Given the description of an element on the screen output the (x, y) to click on. 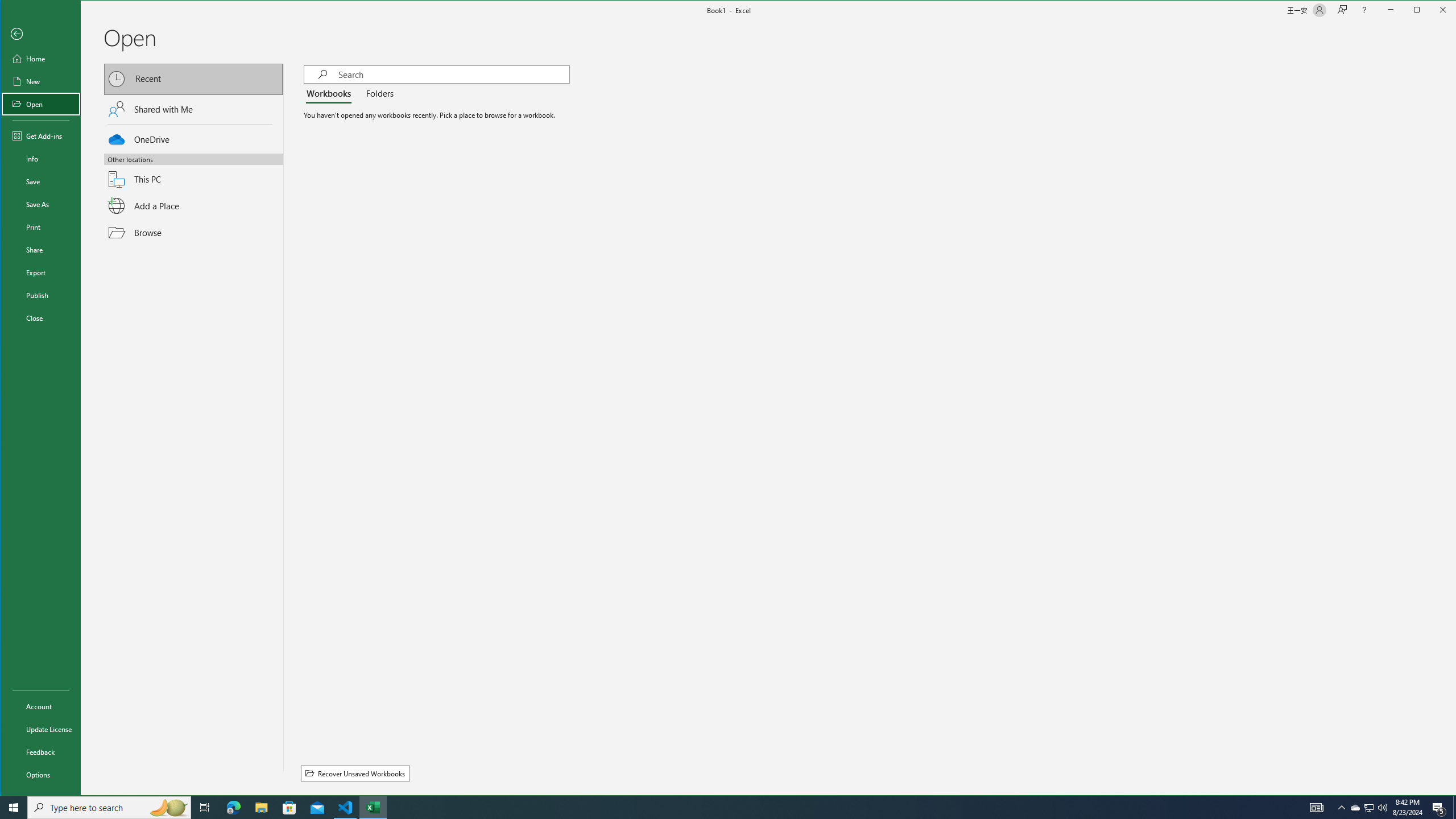
Type here to search (108, 807)
Print (40, 226)
Notification Chevron (1355, 807)
Excel - 1 running window (1341, 807)
AutomationID: 4105 (373, 807)
Workbooks (1316, 807)
User Promoted Notification Area (331, 94)
Visual Studio Code - 1 running window (1368, 807)
Save As (345, 807)
Options (40, 203)
Running applications (40, 774)
